Given the description of an element on the screen output the (x, y) to click on. 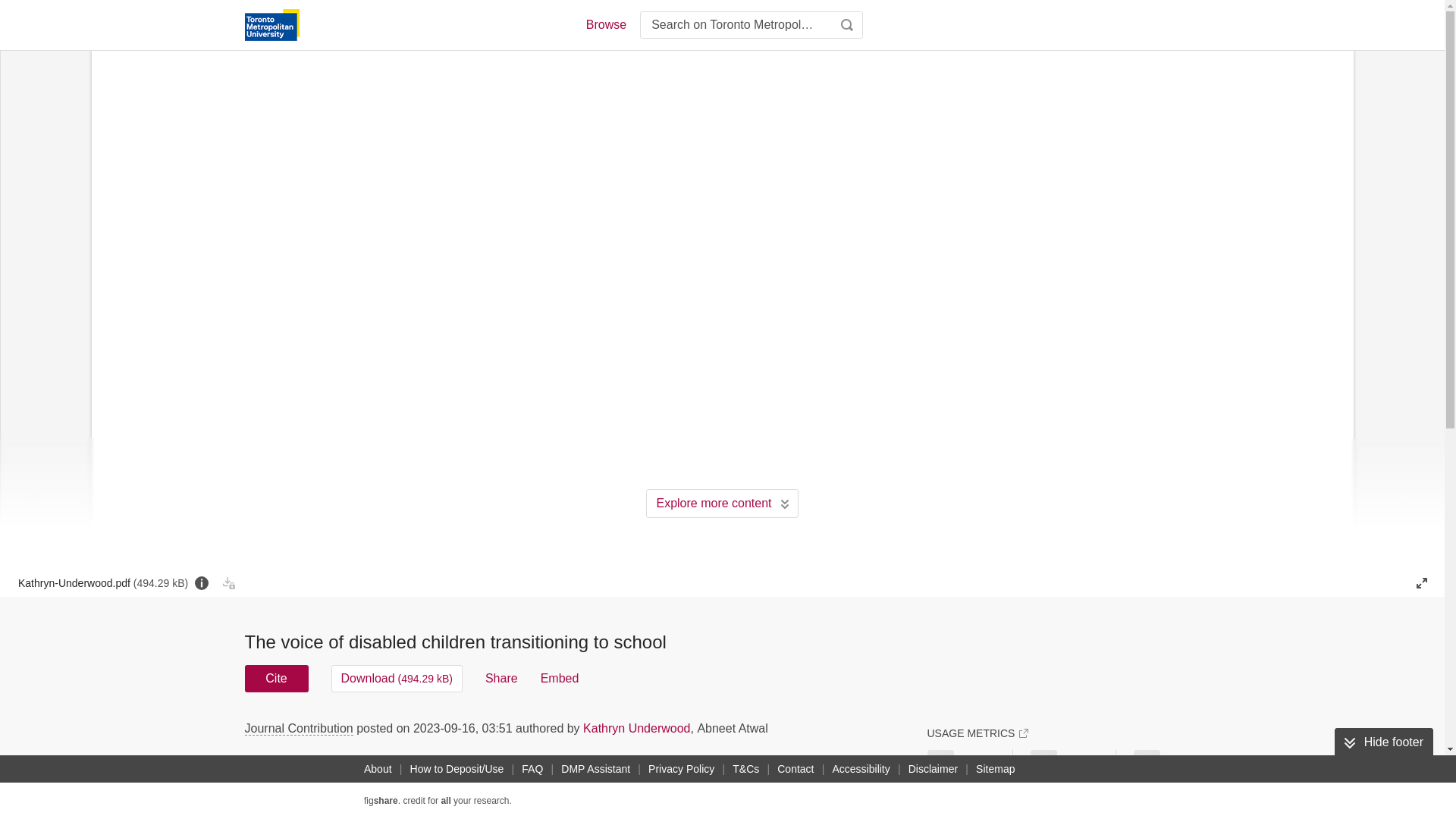
Kathryn-Underwood.pdf (102, 583)
About (377, 769)
Kathryn Underwood (636, 727)
Privacy Policy (681, 769)
FAQ (531, 769)
DMP Assistant (595, 769)
USAGE METRICS (976, 732)
Explore more content (721, 502)
Share (501, 678)
